Given the description of an element on the screen output the (x, y) to click on. 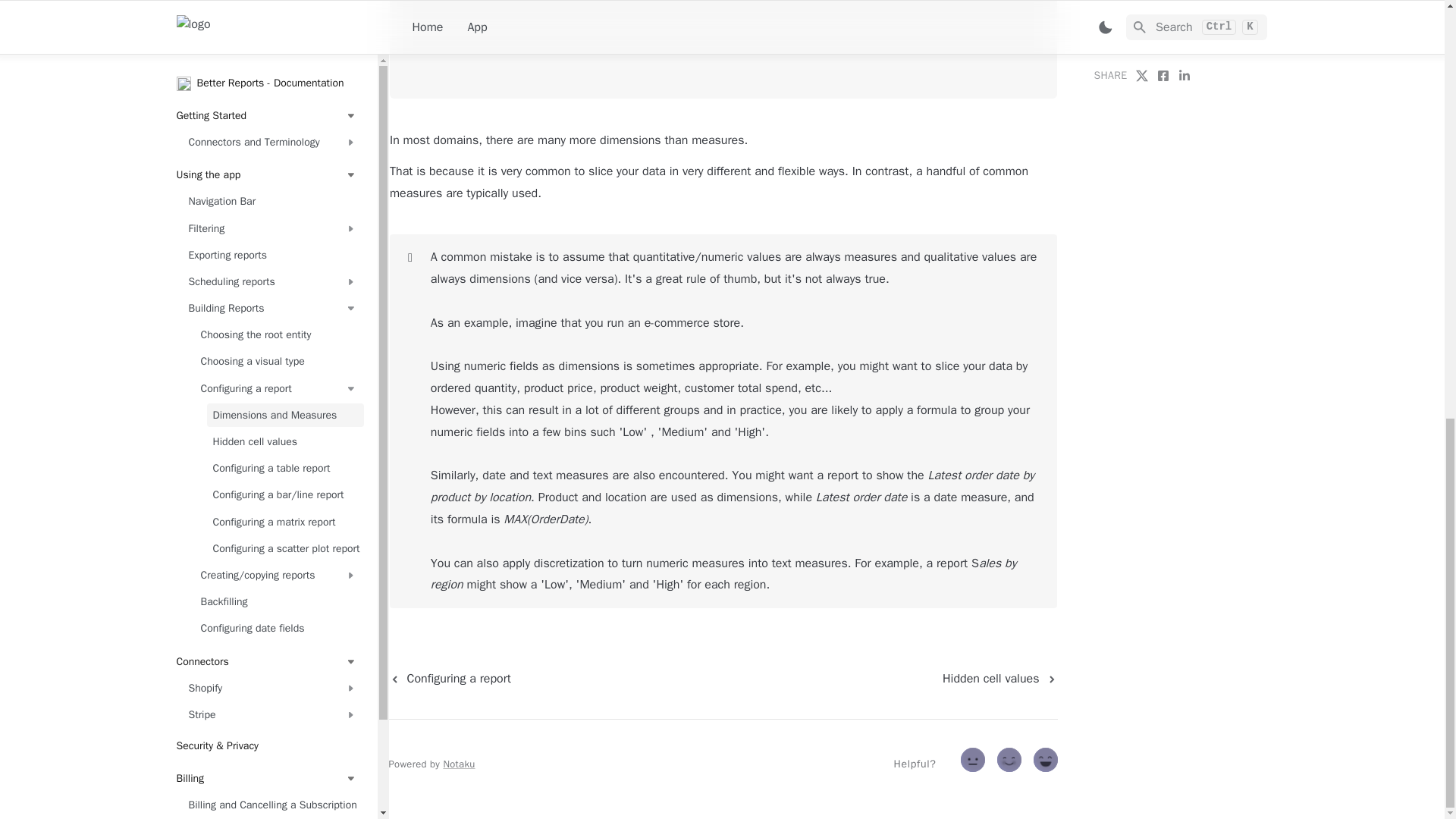
0 (974, 762)
2 (1047, 762)
1 (1010, 762)
Contact Us (266, 33)
